Given the description of an element on the screen output the (x, y) to click on. 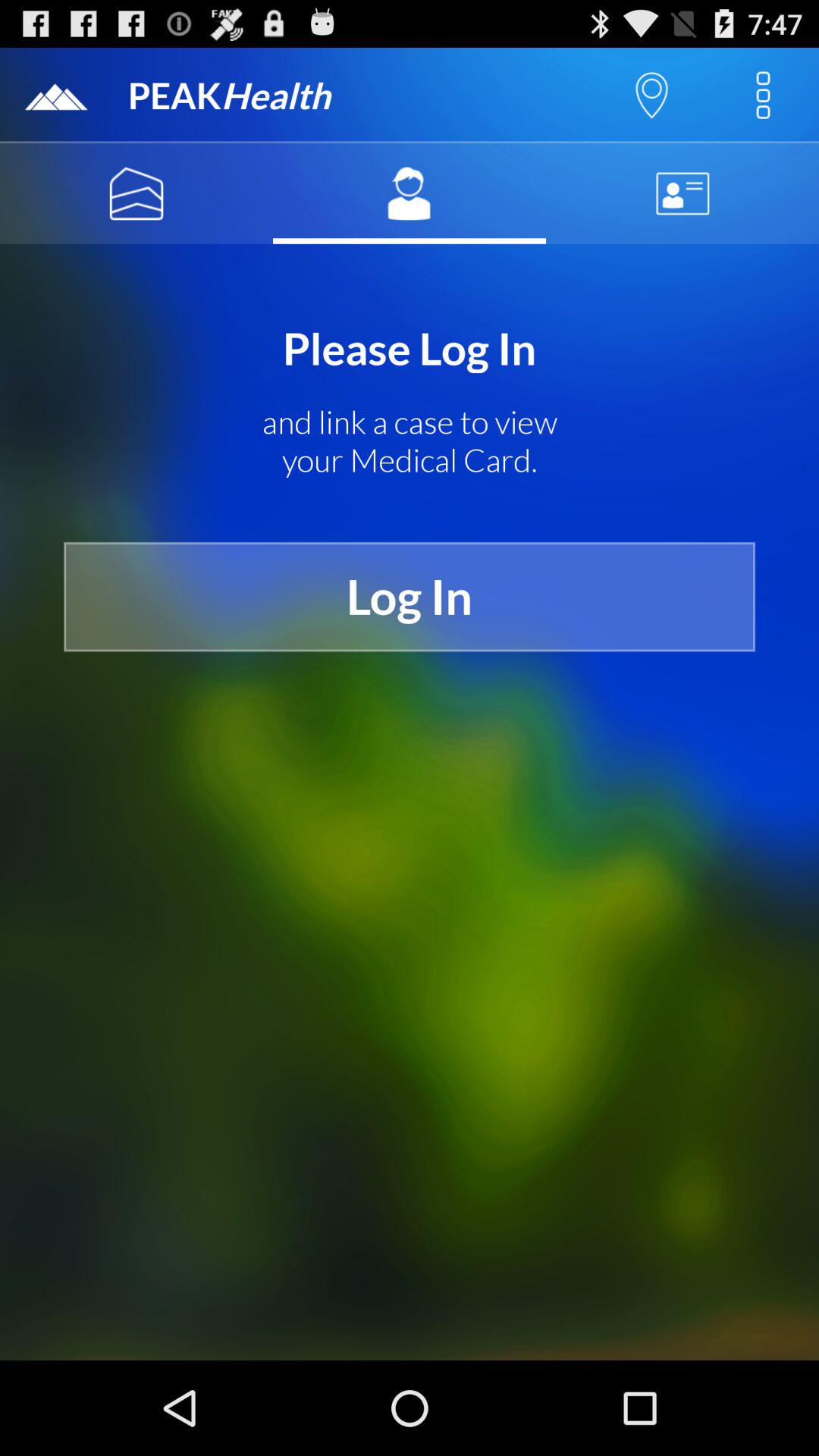
open the item below please log in icon (409, 441)
